Given the description of an element on the screen output the (x, y) to click on. 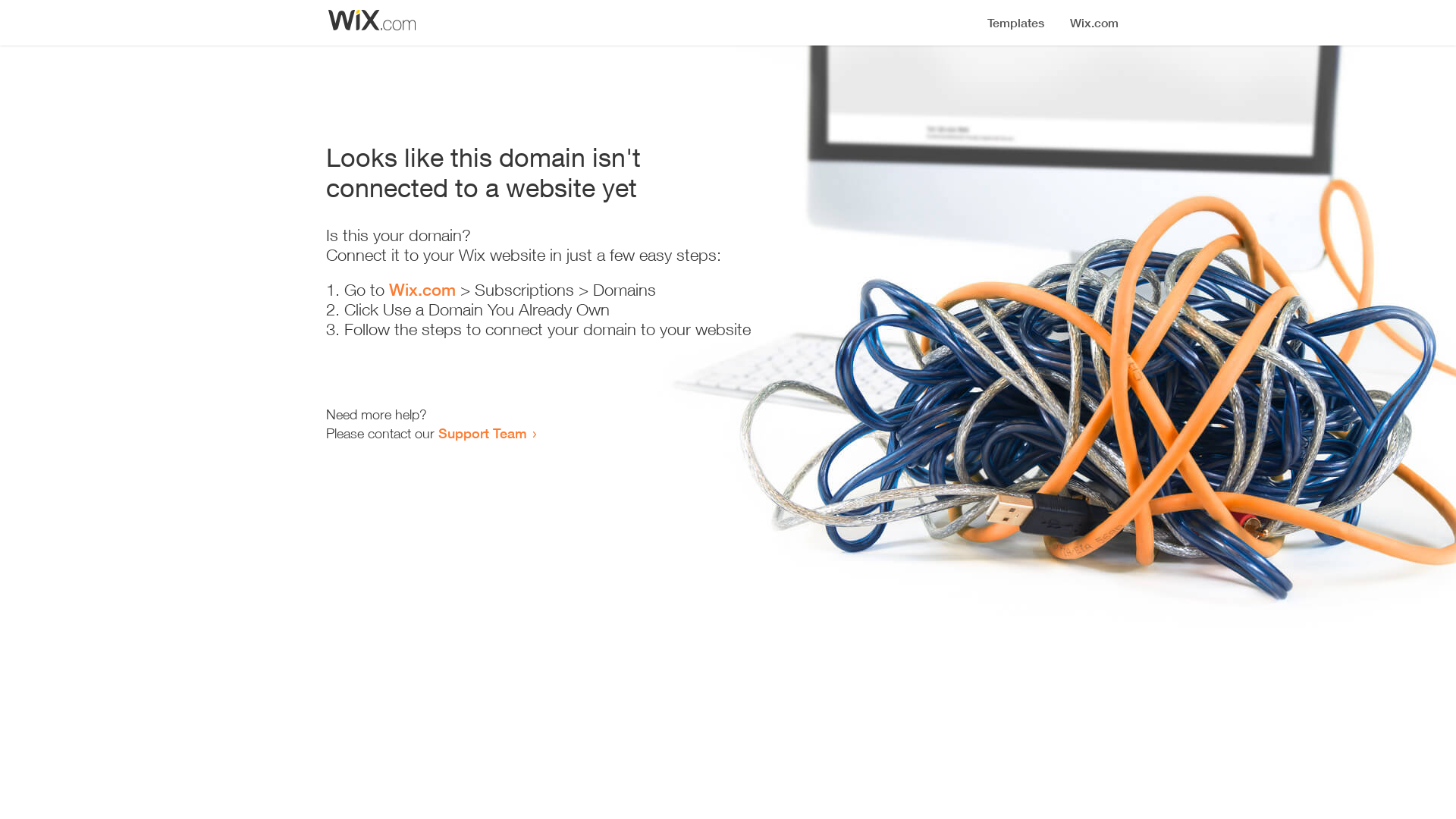
Wix.com Element type: text (422, 289)
Support Team Element type: text (482, 432)
